Given the description of an element on the screen output the (x, y) to click on. 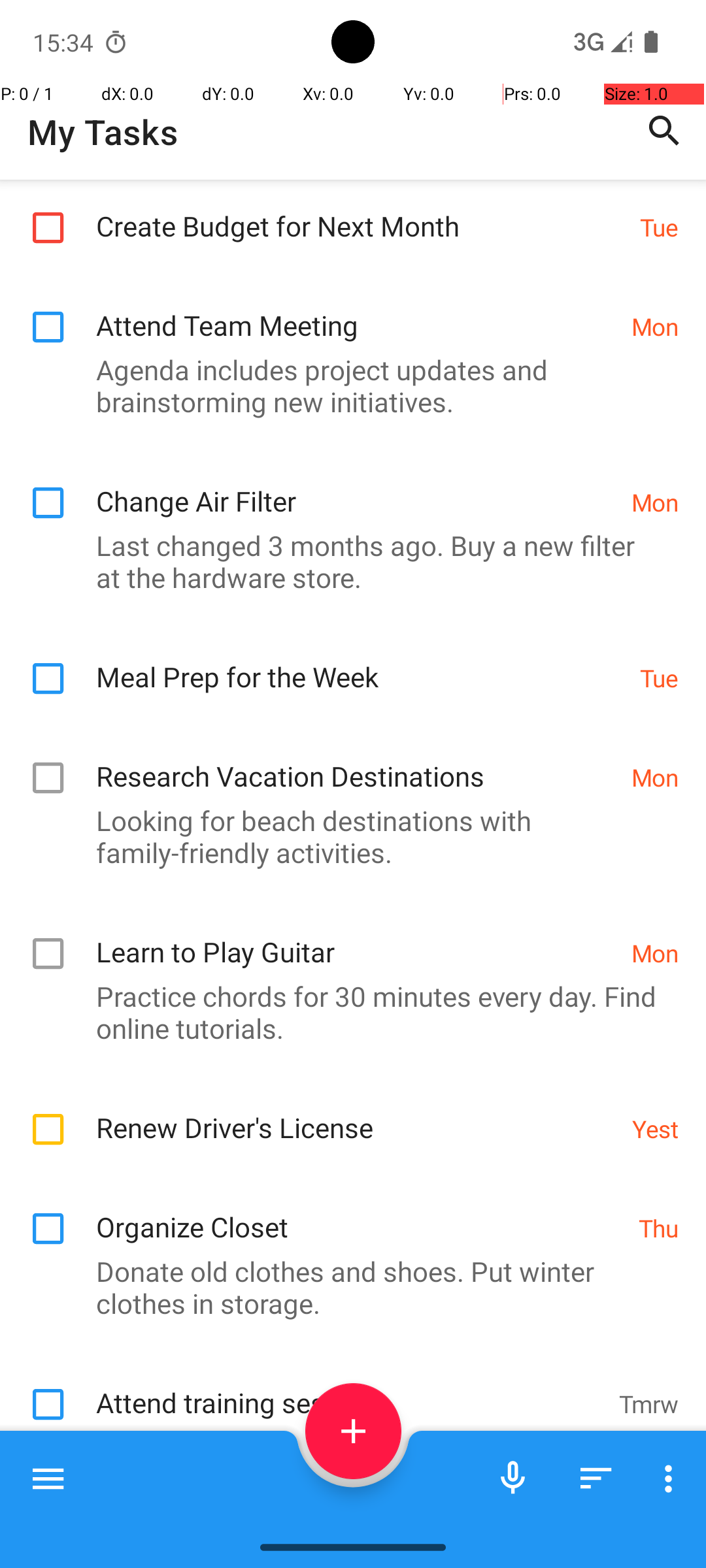
Attend training session Element type: android.widget.TextView (350, 1388)
Send an update. Element type: android.widget.TextView (346, 1446)
Send report to manager Element type: android.widget.TextView (361, 1513)
